Given the description of an element on the screen output the (x, y) to click on. 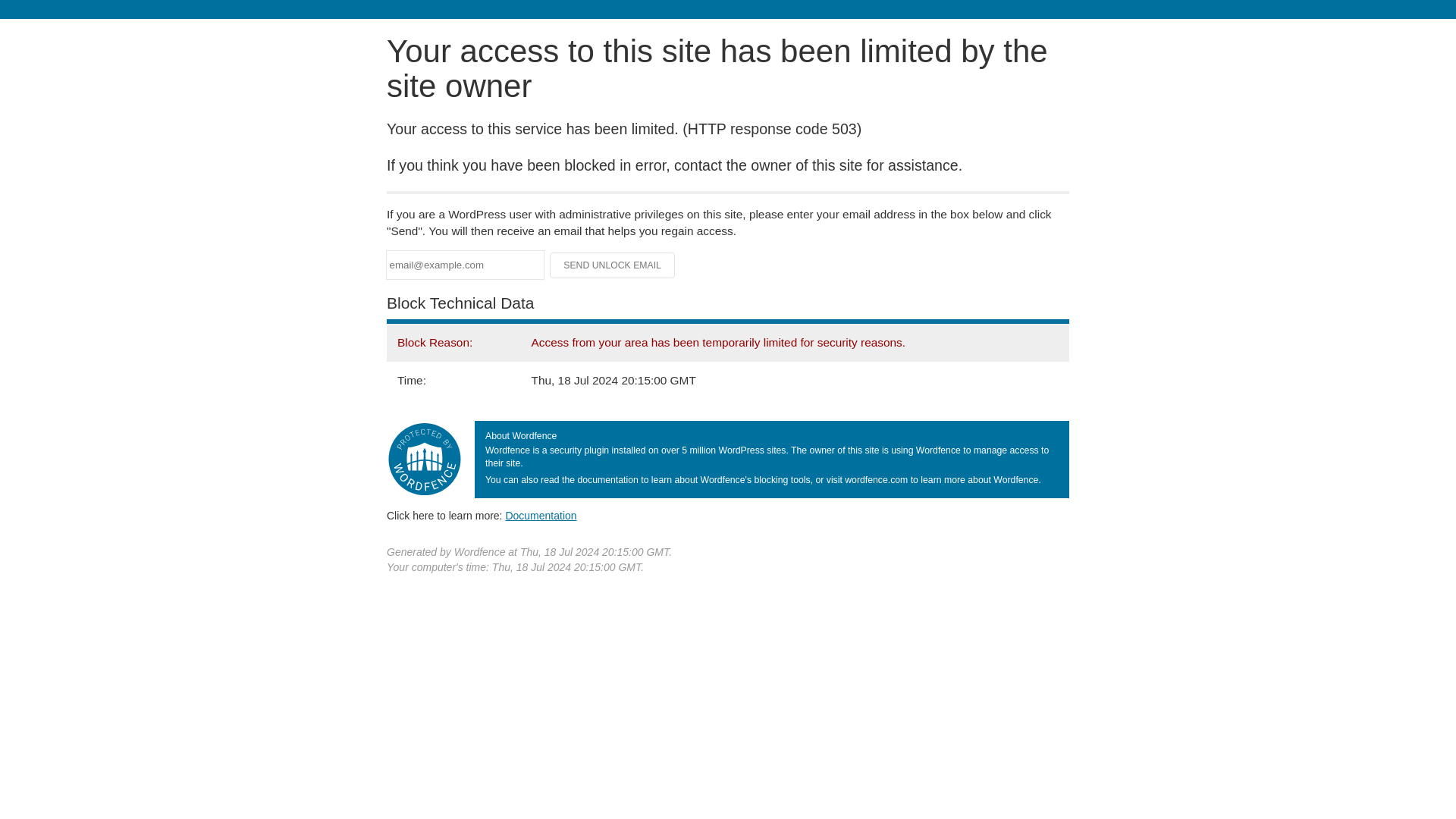
Documentation (540, 515)
Send Unlock Email (612, 265)
Send Unlock Email (612, 265)
